Given the description of an element on the screen output the (x, y) to click on. 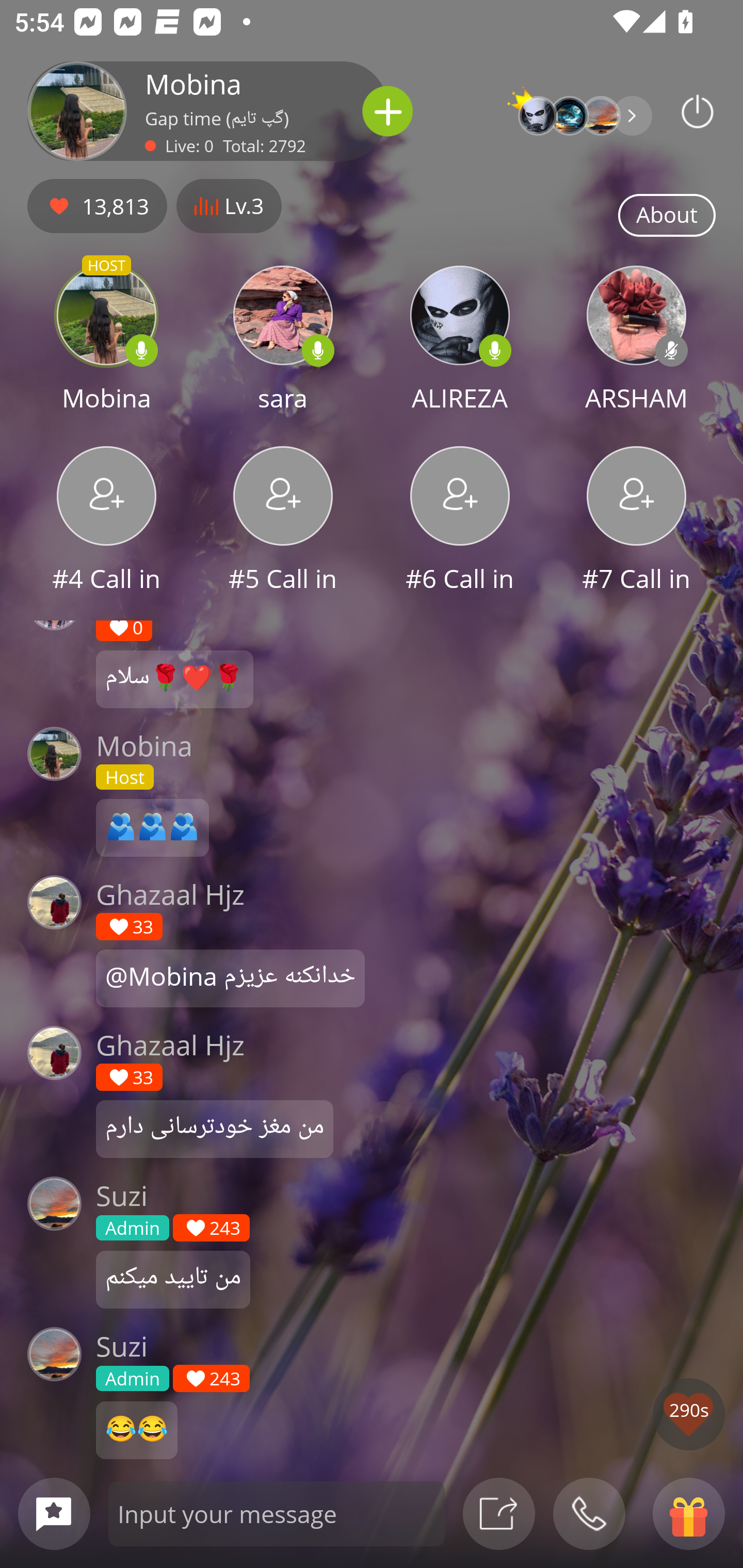
Podbean (697, 111)
About (666, 215)
HOST Mobina (105, 340)
sara (282, 340)
ALIREZA (459, 340)
ARSHAM (636, 340)
#4 Call in (105, 521)
#5 Call in (282, 521)
#6 Call in (459, 521)
#7 Call in (636, 521)
Input your message (276, 1513)
